Given the description of an element on the screen output the (x, y) to click on. 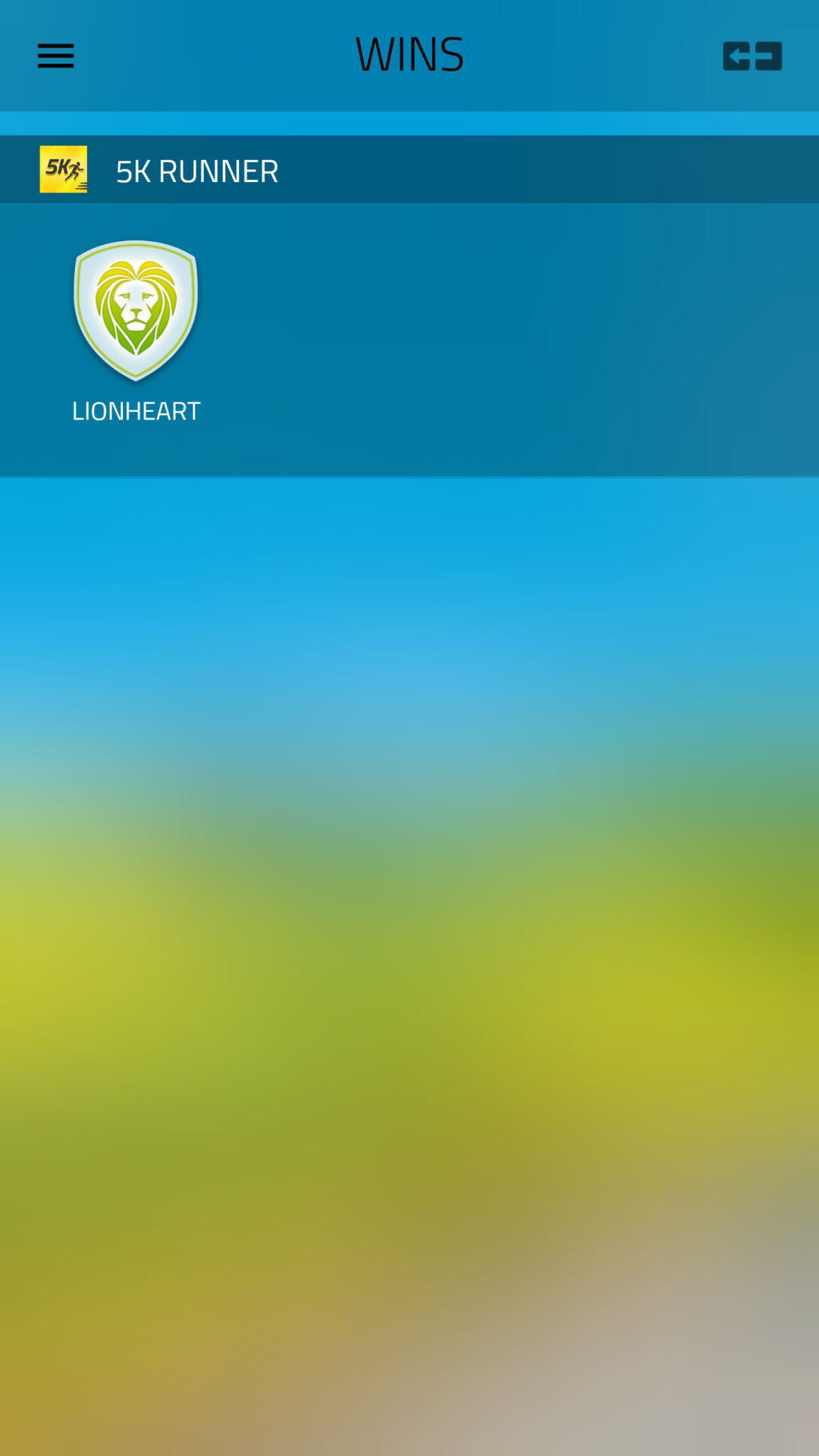
turn on the icon at the top right corner (752, 55)
